Given the description of an element on the screen output the (x, y) to click on. 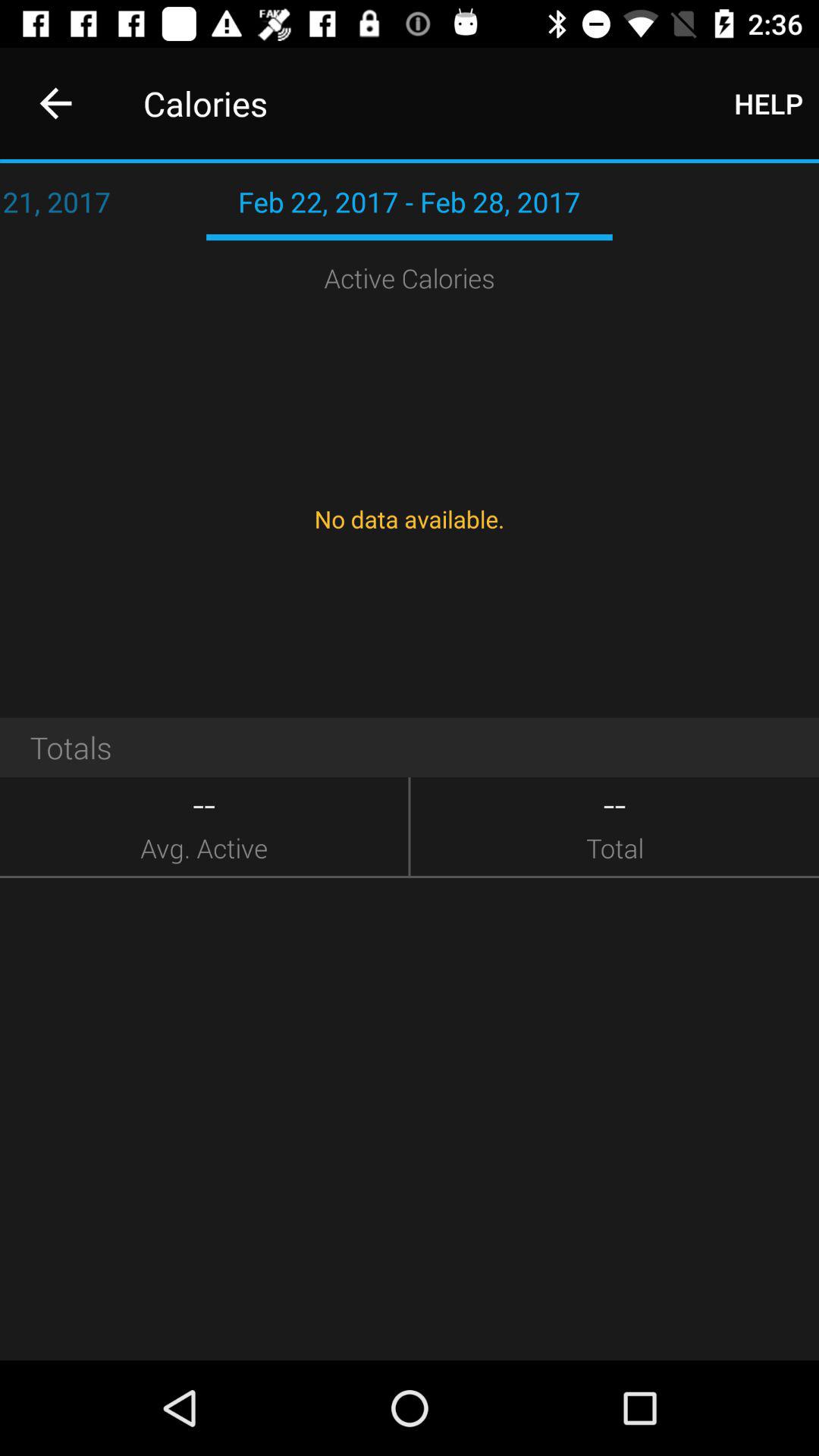
press help (768, 103)
